Given the description of an element on the screen output the (x, y) to click on. 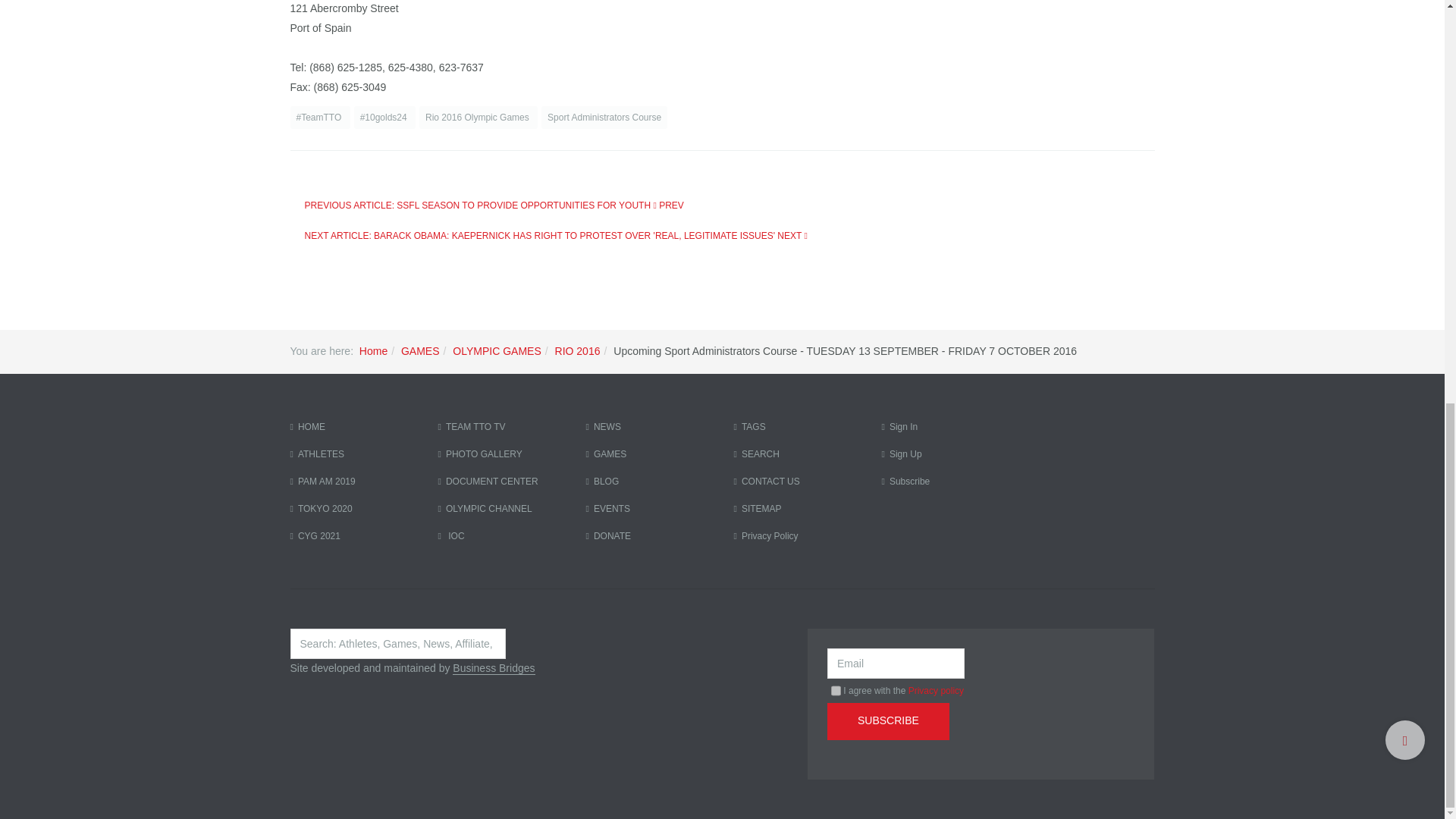
on (836, 690)
Business Bridges (493, 667)
Subscribe (888, 721)
Terms and conditions (836, 690)
